Given the description of an element on the screen output the (x, y) to click on. 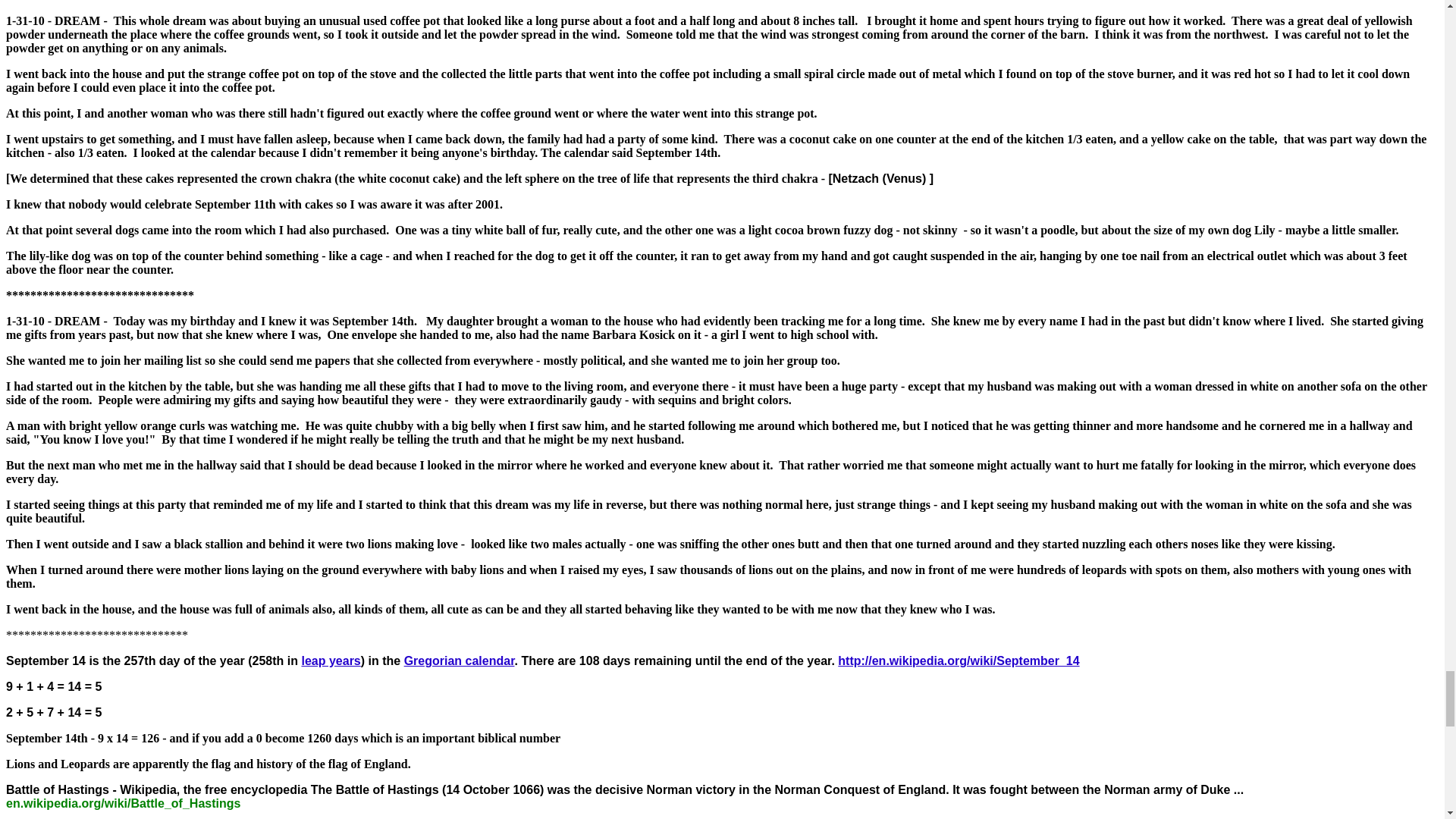
leap years (330, 660)
Gregorian calendar (459, 660)
Gregorian calendar (459, 660)
Leap year (330, 660)
